Given the description of an element on the screen output the (x, y) to click on. 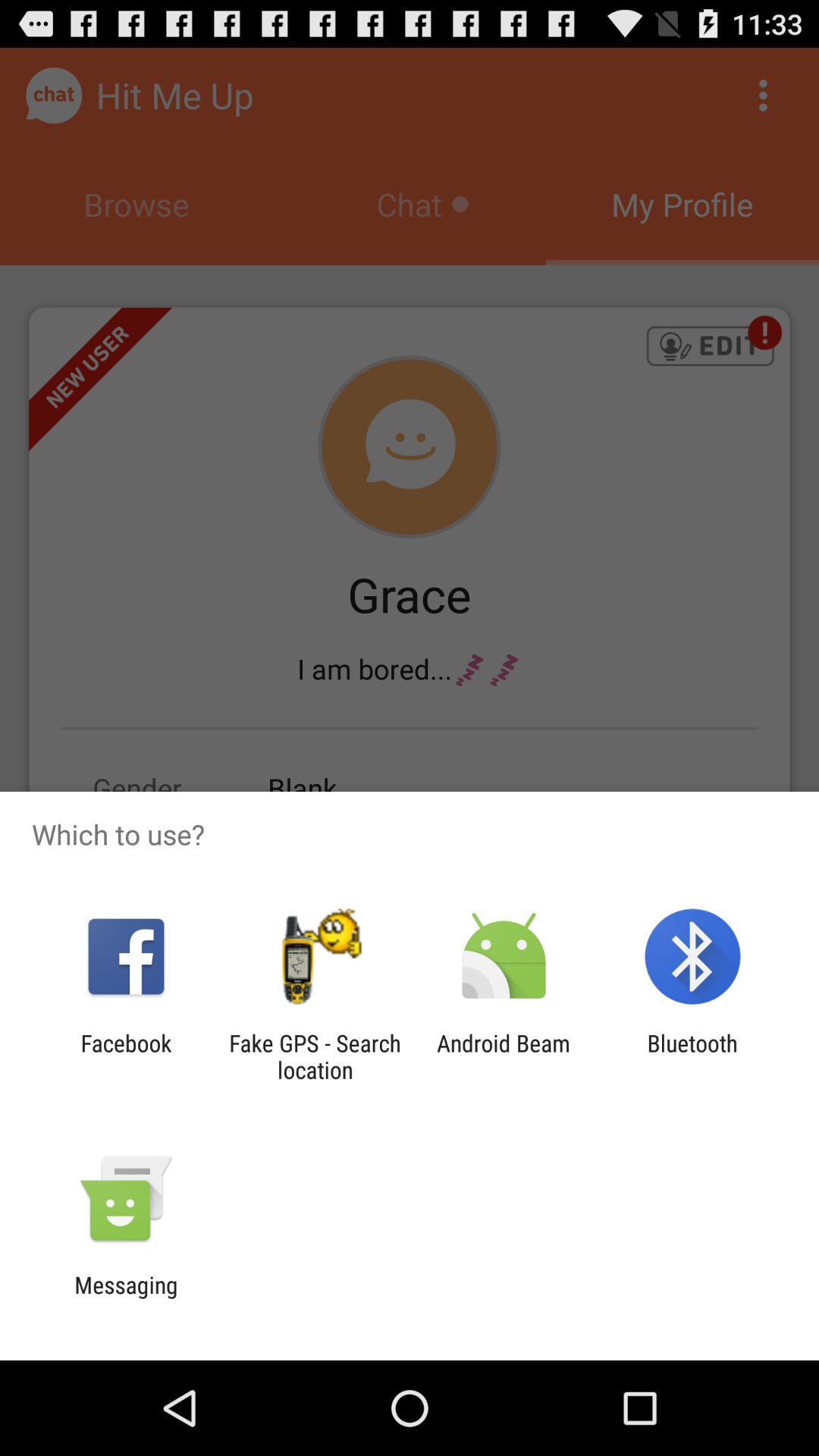
select the item to the right of fake gps search (503, 1056)
